Given the description of an element on the screen output the (x, y) to click on. 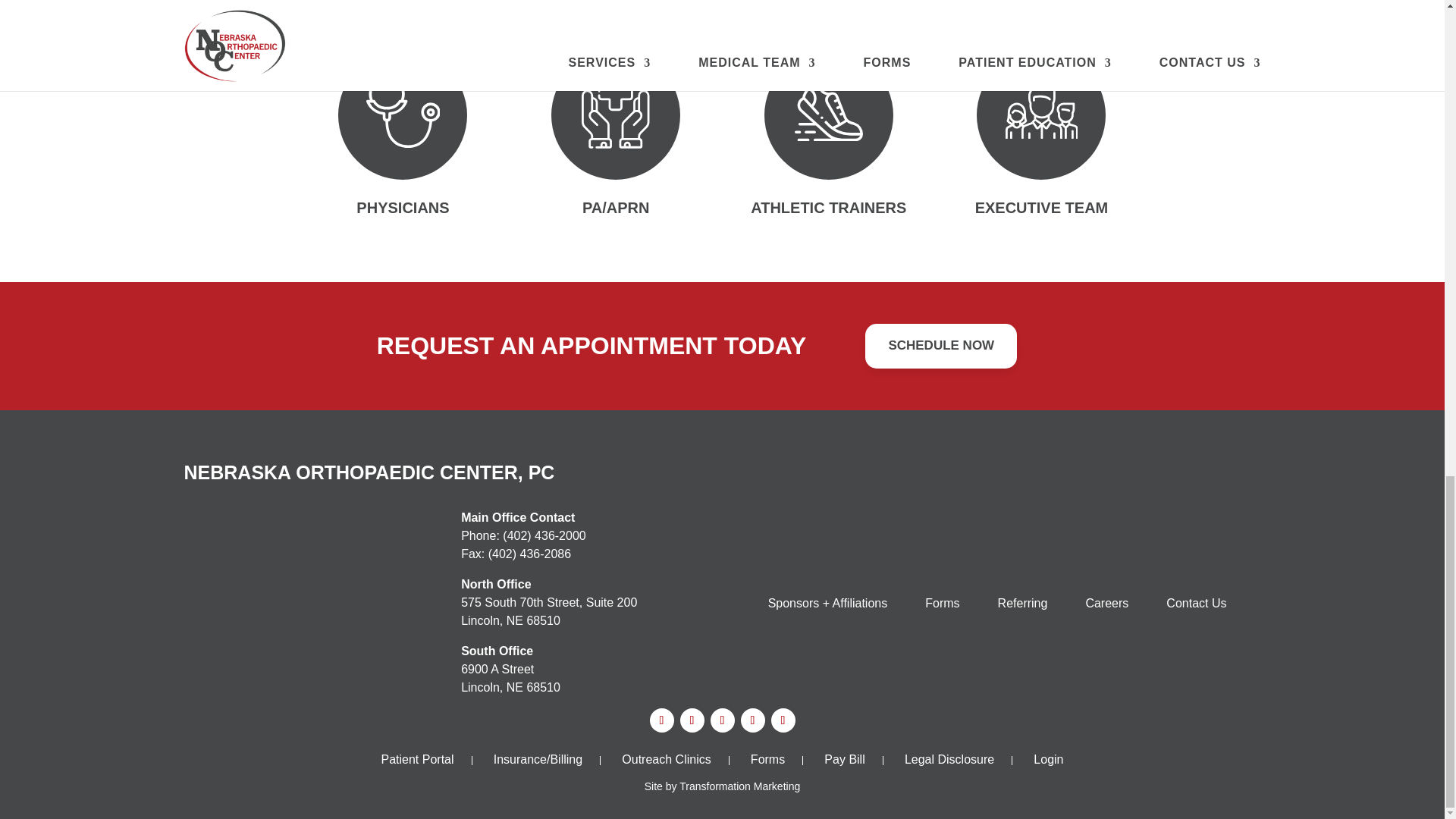
Follow on LinkedIn (660, 720)
Follow on Instagram (751, 720)
Follow on X (782, 720)
Follow on Youtube (721, 720)
Follow on Facebook (691, 720)
